Given the description of an element on the screen output the (x, y) to click on. 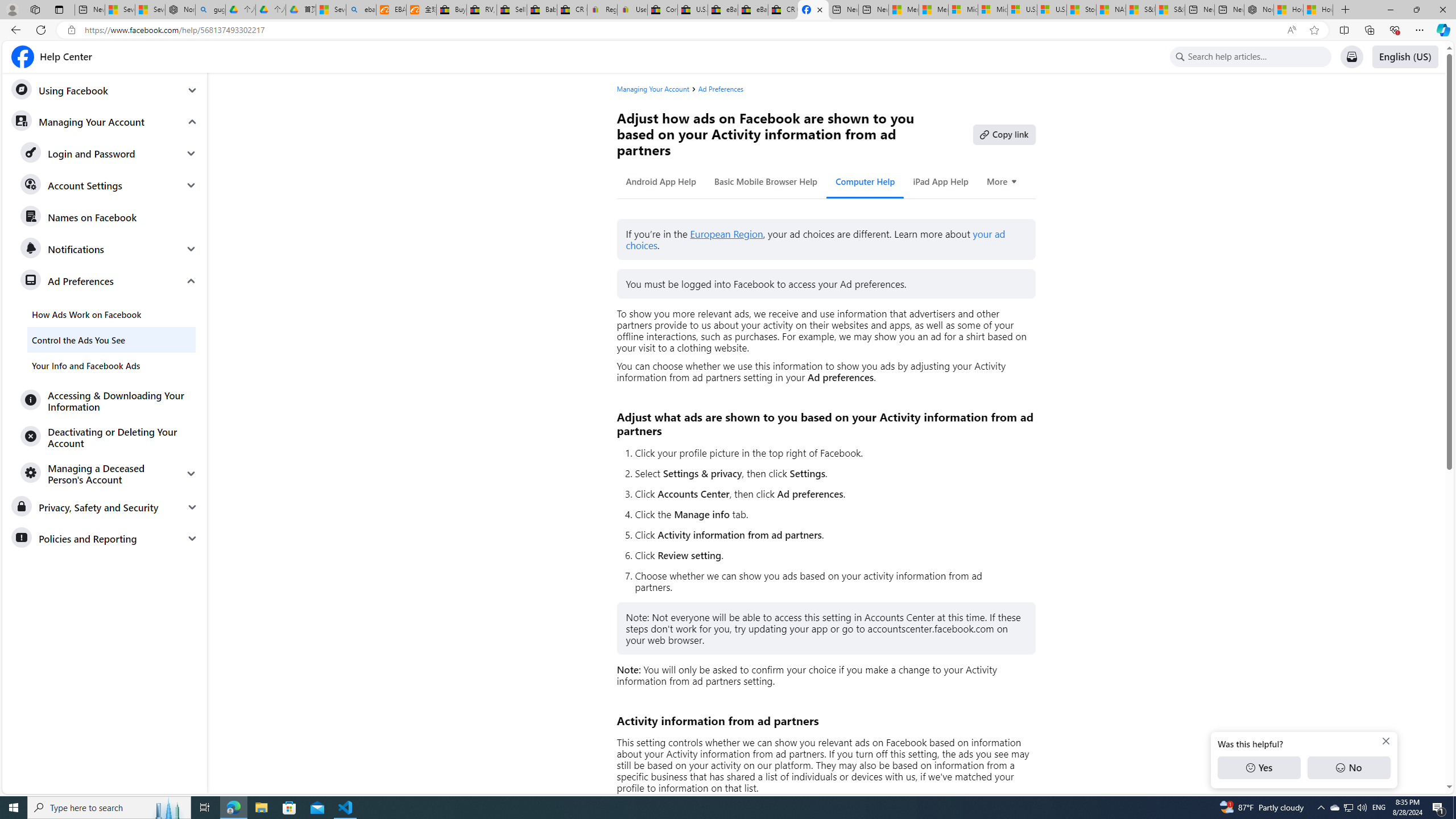
Copy link (1003, 133)
Yes (1258, 767)
Android App Help (660, 181)
guge yunpan - Search (210, 9)
European Region (726, 233)
Select Settings & privacy, then click Settings. (829, 473)
S&P 500, Nasdaq end lower, weighed by Nvidia dip | Watch (1169, 9)
Change Language: English (US) (1404, 56)
Class: x19dipnz x1lliihq x1tzjh5l x1k90msu x2h7rmj x1qfuztq (1179, 56)
Names on Facebook (109, 217)
